Given the description of an element on the screen output the (x, y) to click on. 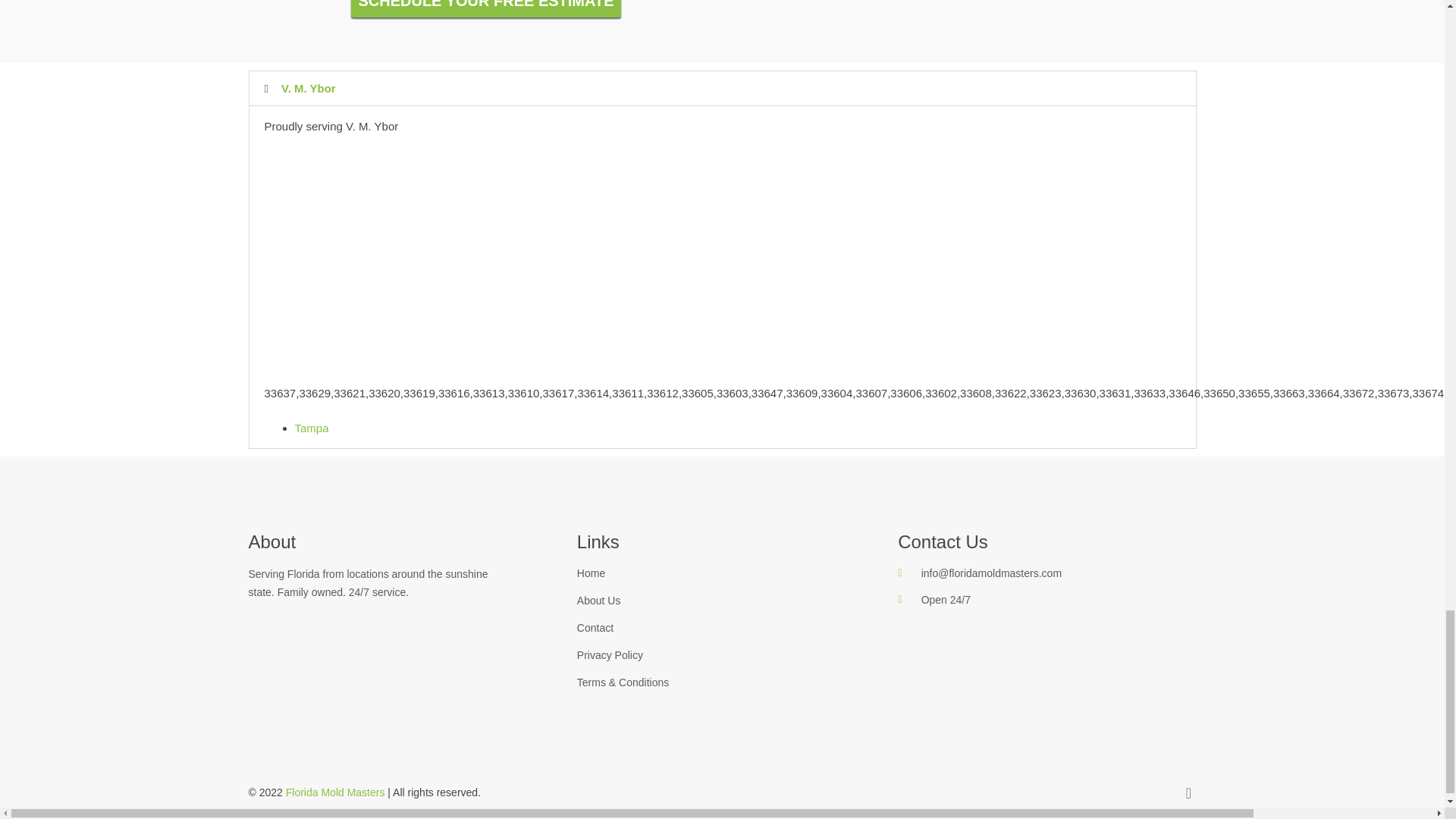
Home (721, 573)
Privacy Policy (721, 655)
Contact (721, 627)
Tampa (311, 427)
SCHEDULE YOUR FREE ESTIMATE (485, 8)
Florida Mold Masters (335, 792)
V. M. Ybor (308, 88)
About Us (721, 600)
